Given the description of an element on the screen output the (x, y) to click on. 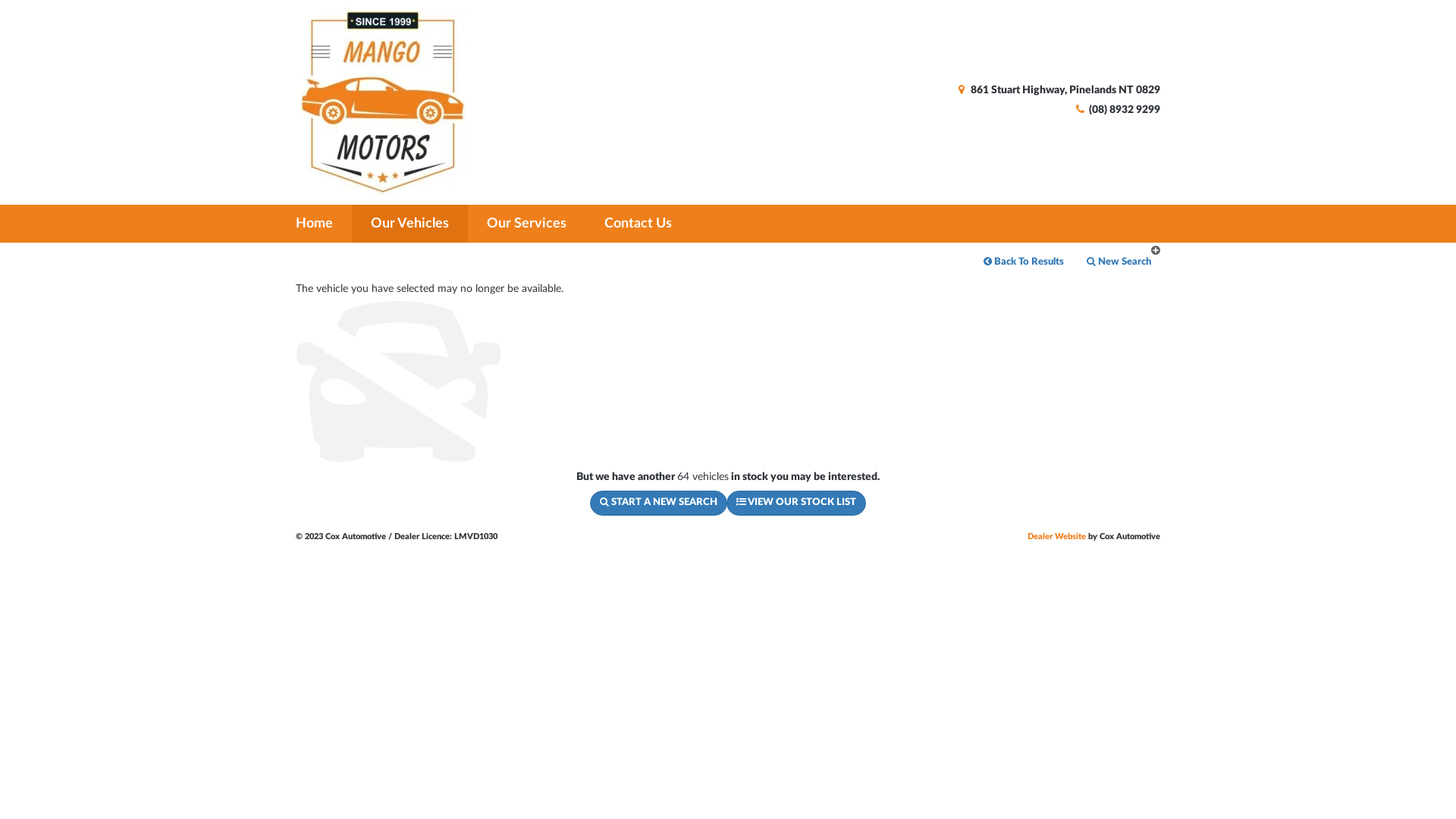
Back To Results Element type: text (1023, 262)
START A NEW SEARCH Element type: text (658, 502)
Dealer Website Element type: text (1056, 536)
(08) 8932 9299 Element type: text (1116, 109)
New Search Element type: text (1118, 262)
Our Services Element type: text (526, 223)
VIEW OUR STOCK LIST Element type: text (796, 502)
Add/Remove this vehicle to your Garage Shortlist! Element type: hover (1155, 249)
Home Element type: text (315, 223)
Our Vehicles Element type: text (409, 223)
Contact Us Element type: text (637, 223)
861 Stuart Highway, Pinelands NT 0829 Element type: text (1057, 89)
